Given the description of an element on the screen output the (x, y) to click on. 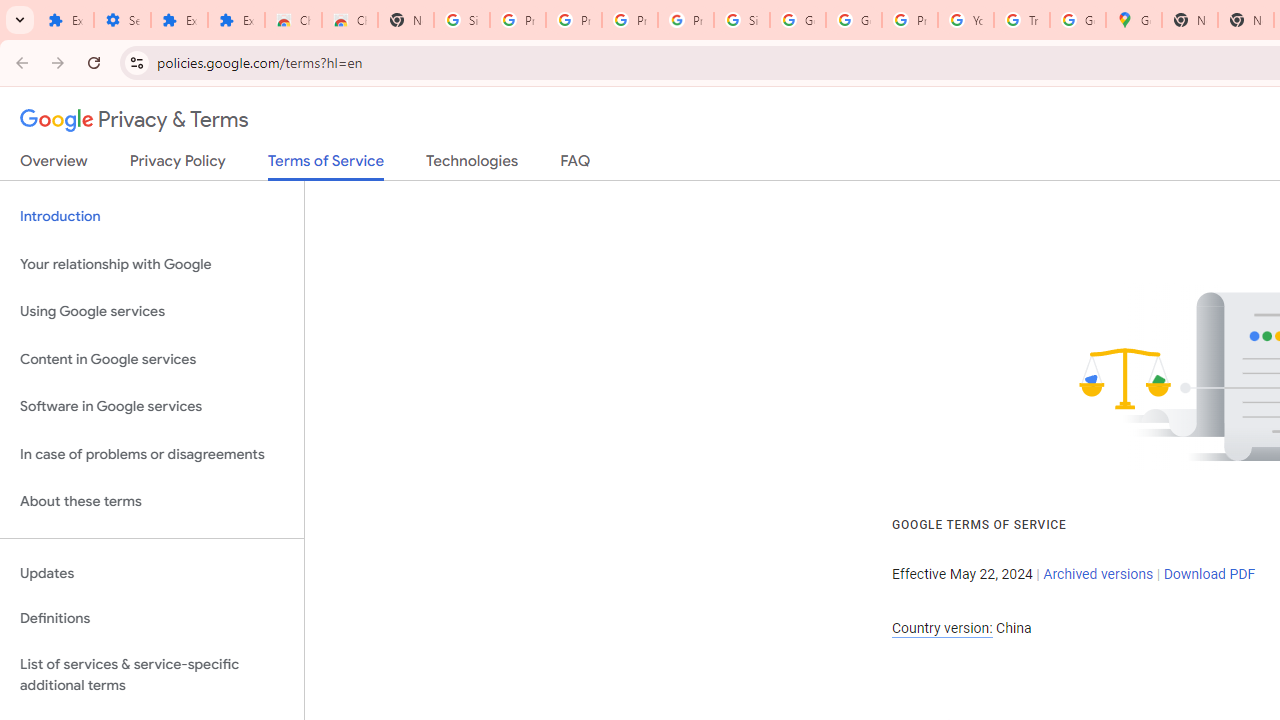
Privacy Policy (177, 165)
Technologies (472, 165)
